Given the description of an element on the screen output the (x, y) to click on. 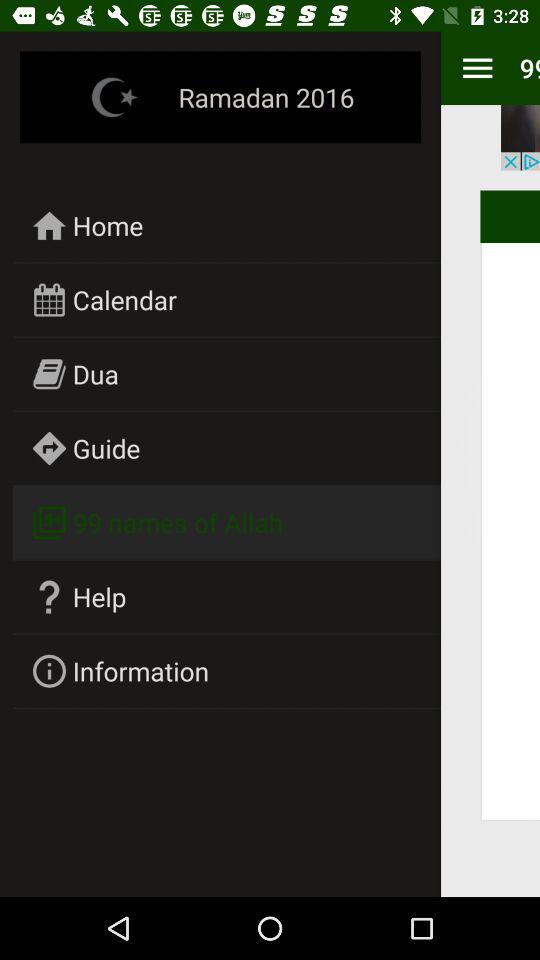
flip until guide icon (106, 448)
